Given the description of an element on the screen output the (x, y) to click on. 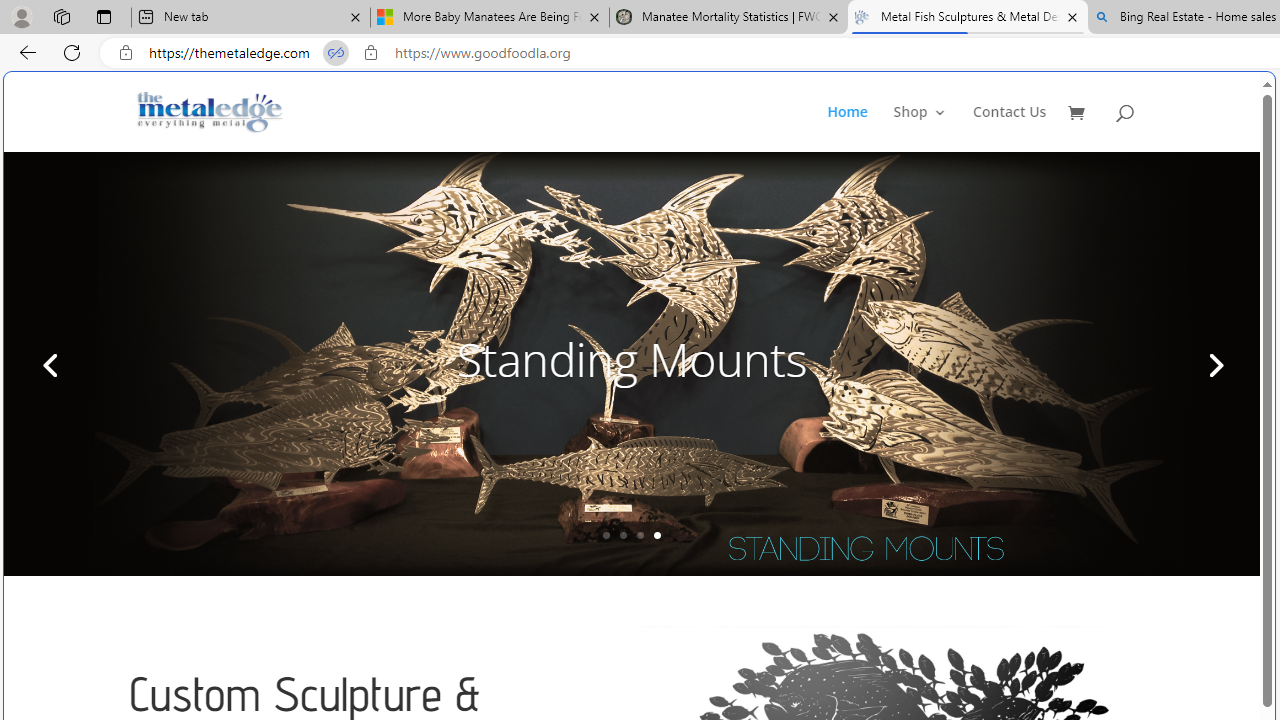
3 (640, 535)
Shop 3 (920, 128)
Shop3 (931, 128)
Tabs in split screen (335, 53)
4 (657, 535)
